Given the description of an element on the screen output the (x, y) to click on. 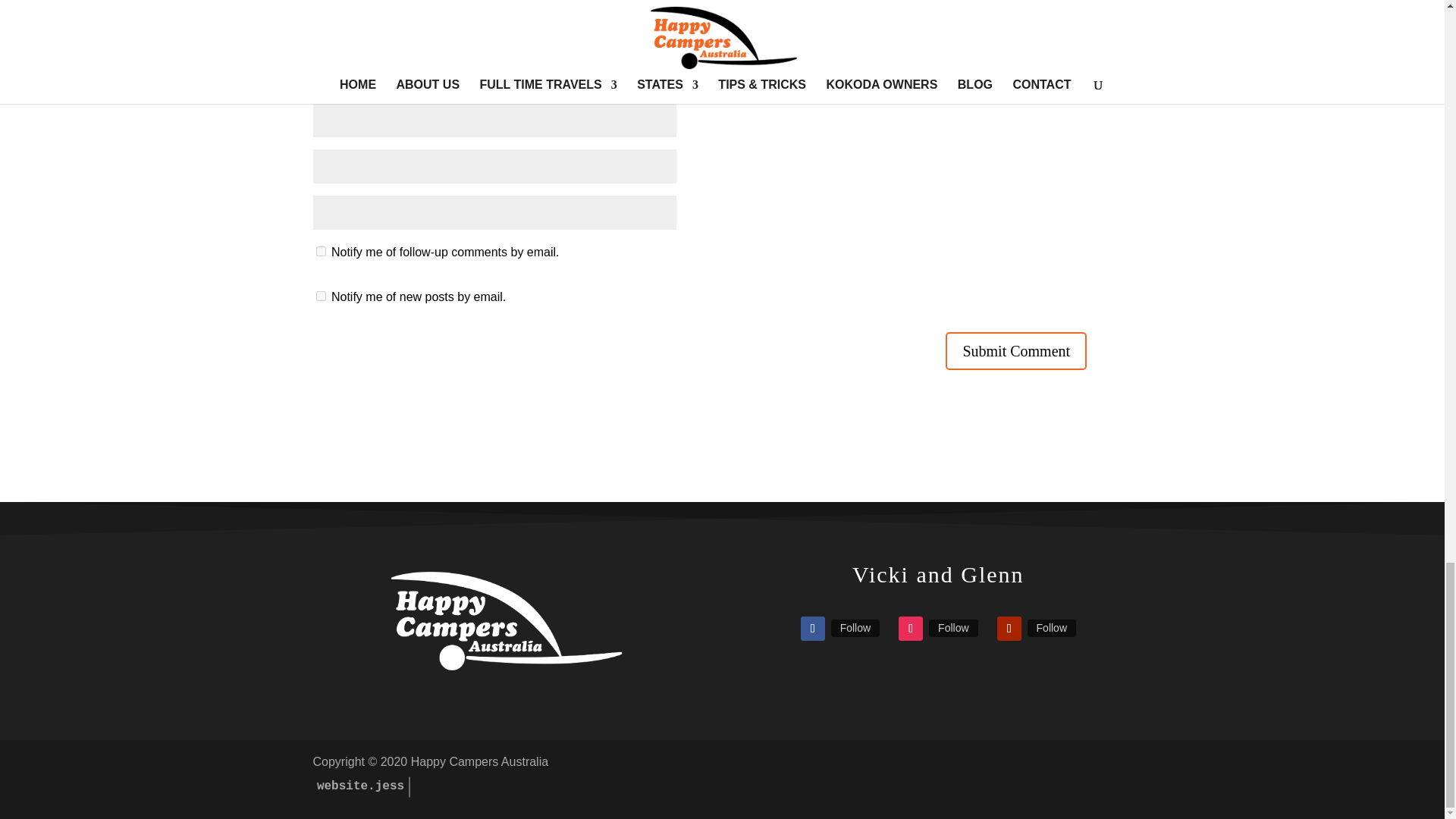
Youtube (1051, 627)
subscribe (319, 251)
Happy Campers Australia Logo (505, 620)
Facebook (855, 627)
Follow on Facebook (812, 628)
Instagram (952, 627)
Follow on Youtube (1009, 628)
Follow on Instagram (910, 628)
Submit Comment (1015, 351)
subscribe (319, 296)
